Given the description of an element on the screen output the (x, y) to click on. 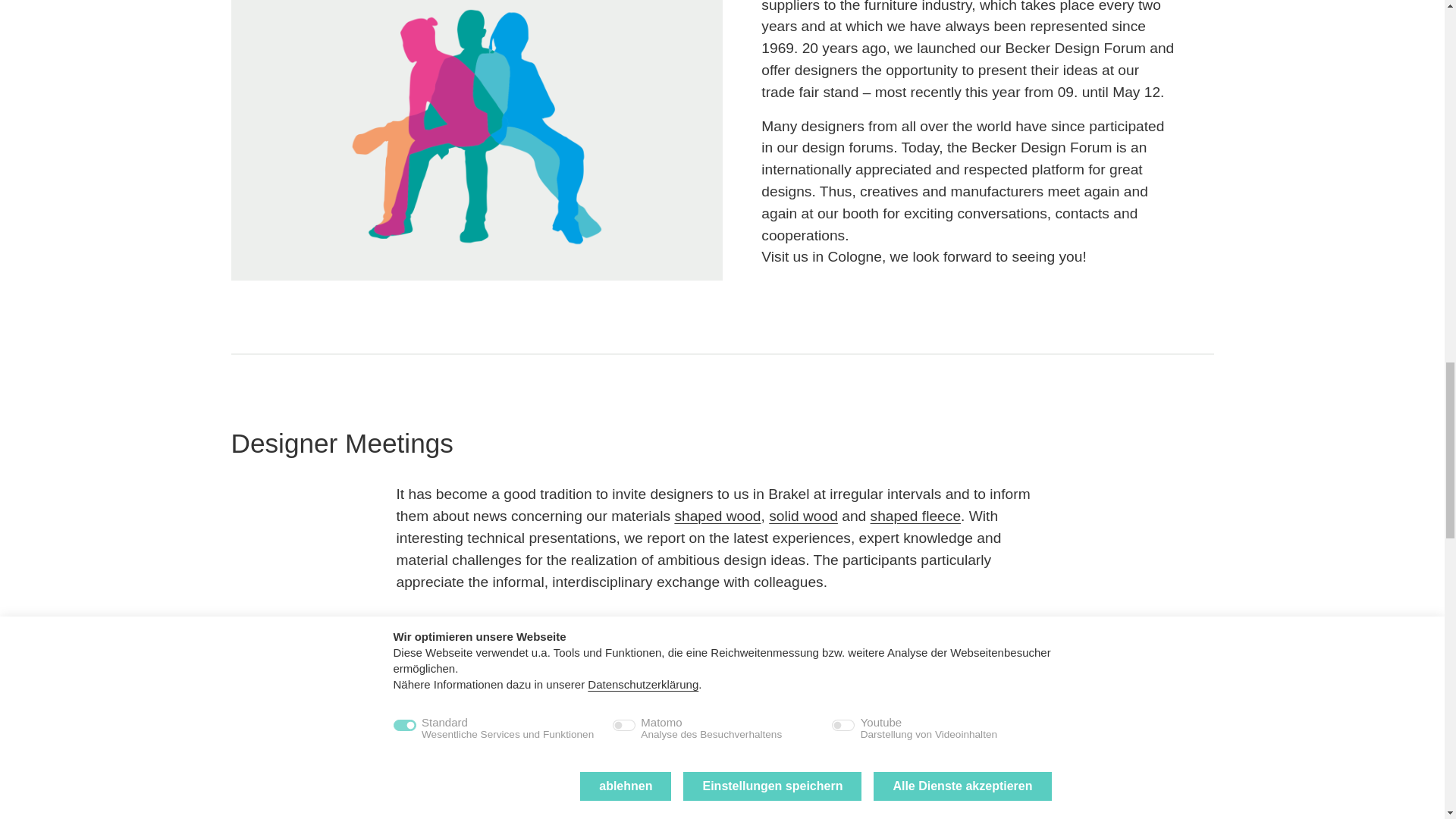
shaped fleece (915, 515)
shaped wood (717, 515)
solid wood (803, 515)
